Given the description of an element on the screen output the (x, y) to click on. 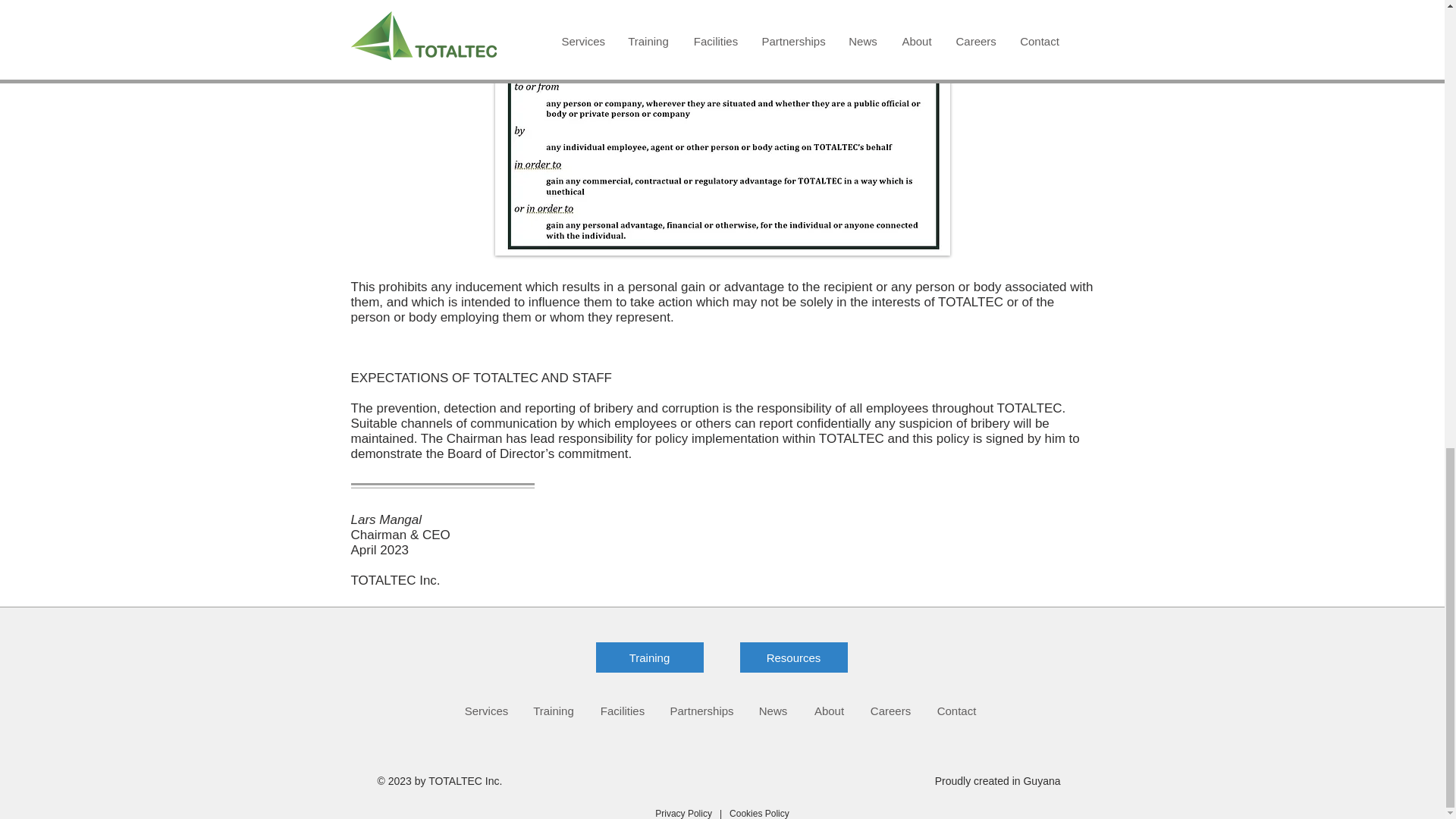
Facilities (622, 711)
Resources (793, 657)
Partnerships (701, 711)
Careers (891, 711)
Services (485, 711)
News (772, 711)
Training (649, 657)
Contact (956, 711)
About (829, 711)
Training (553, 711)
